Given the description of an element on the screen output the (x, y) to click on. 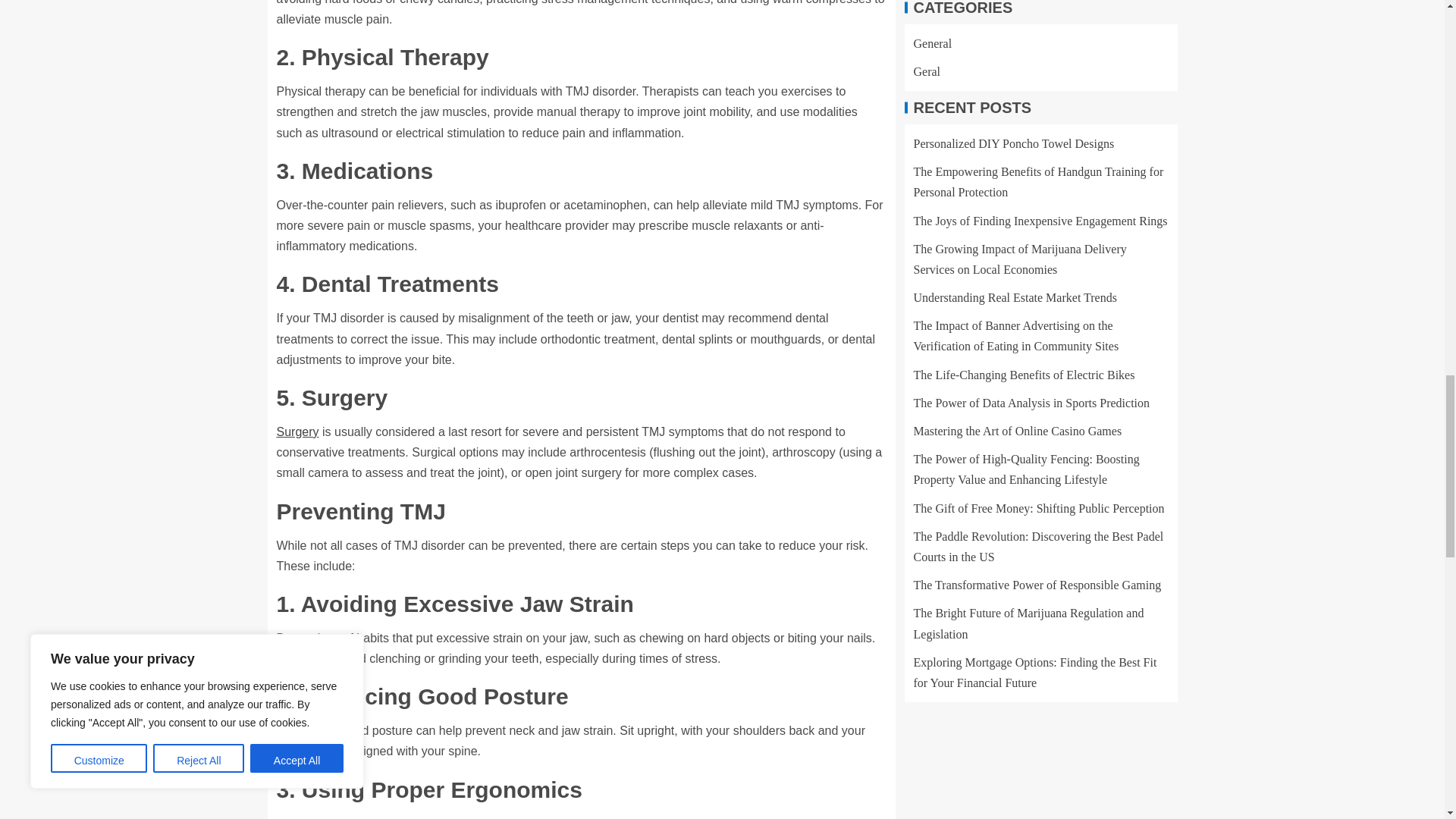
Surgery (297, 431)
